Given the description of an element on the screen output the (x, y) to click on. 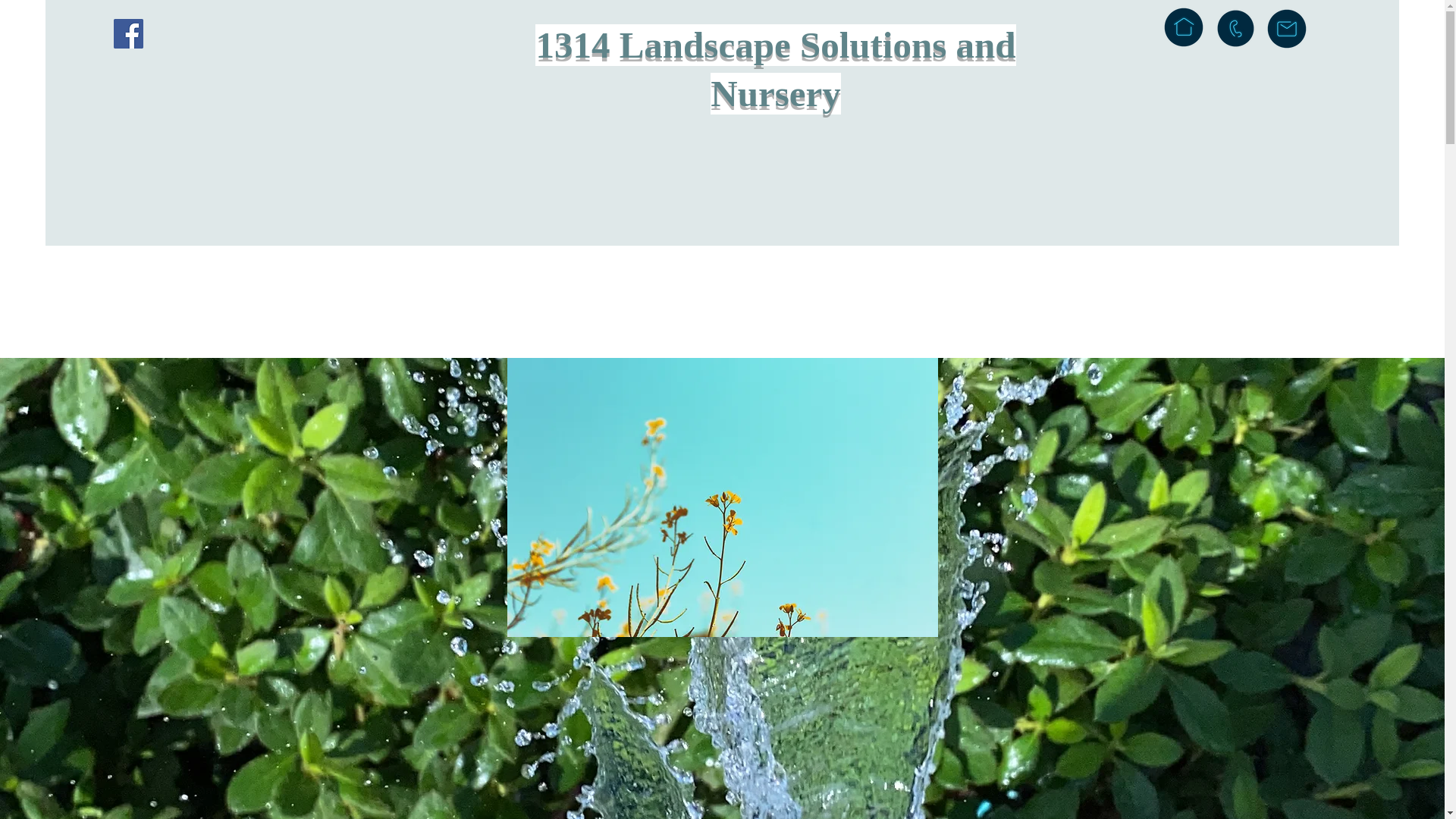
Log In Element type: text (1343, 34)
email Element type: hover (1286, 28)
inicio Element type: hover (1183, 27)
llamar Element type: hover (1235, 27)
